Given the description of an element on the screen output the (x, y) to click on. 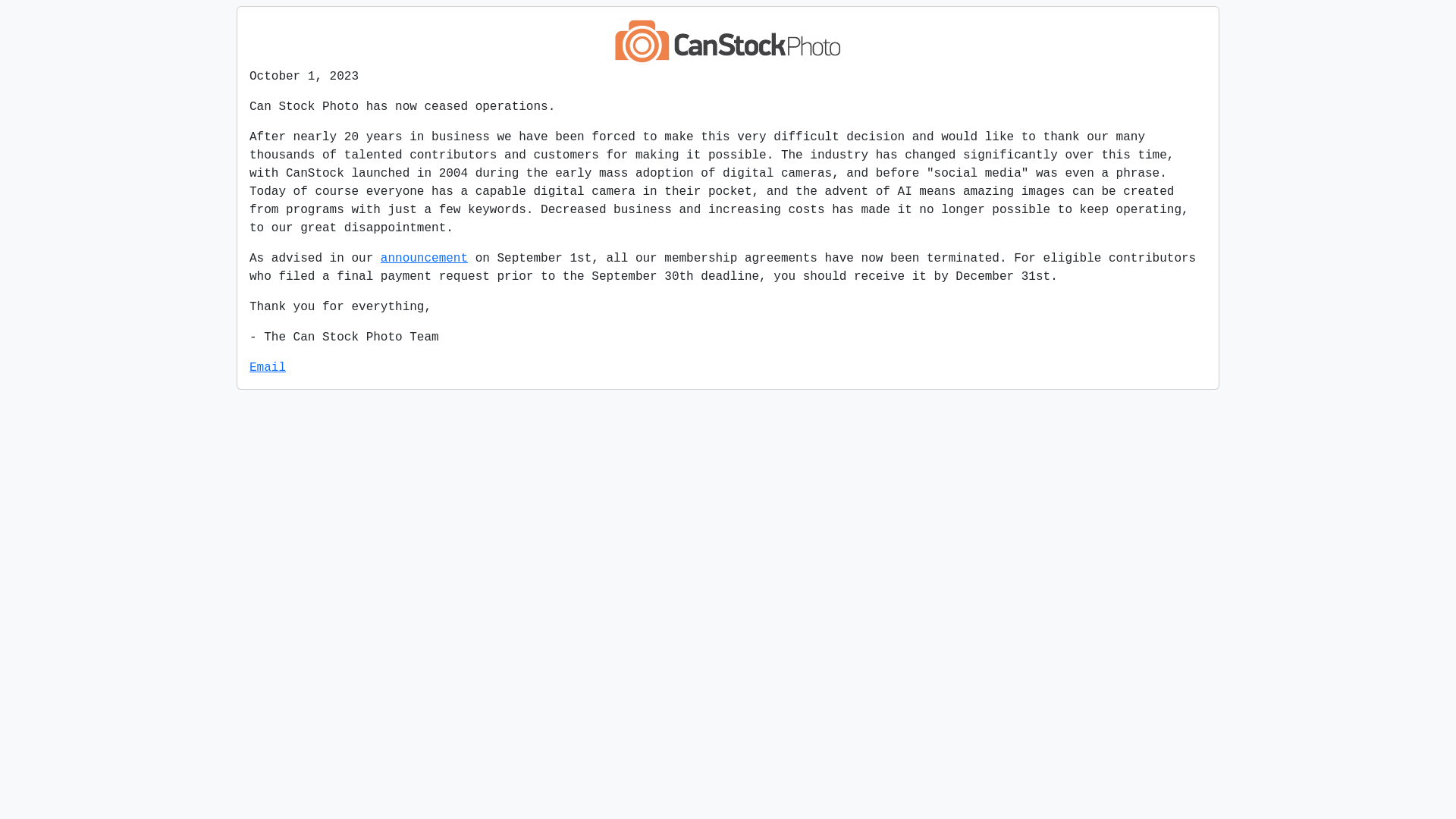
Email Element type: text (267, 367)
announcement Element type: text (423, 258)
